Given the description of an element on the screen output the (x, y) to click on. 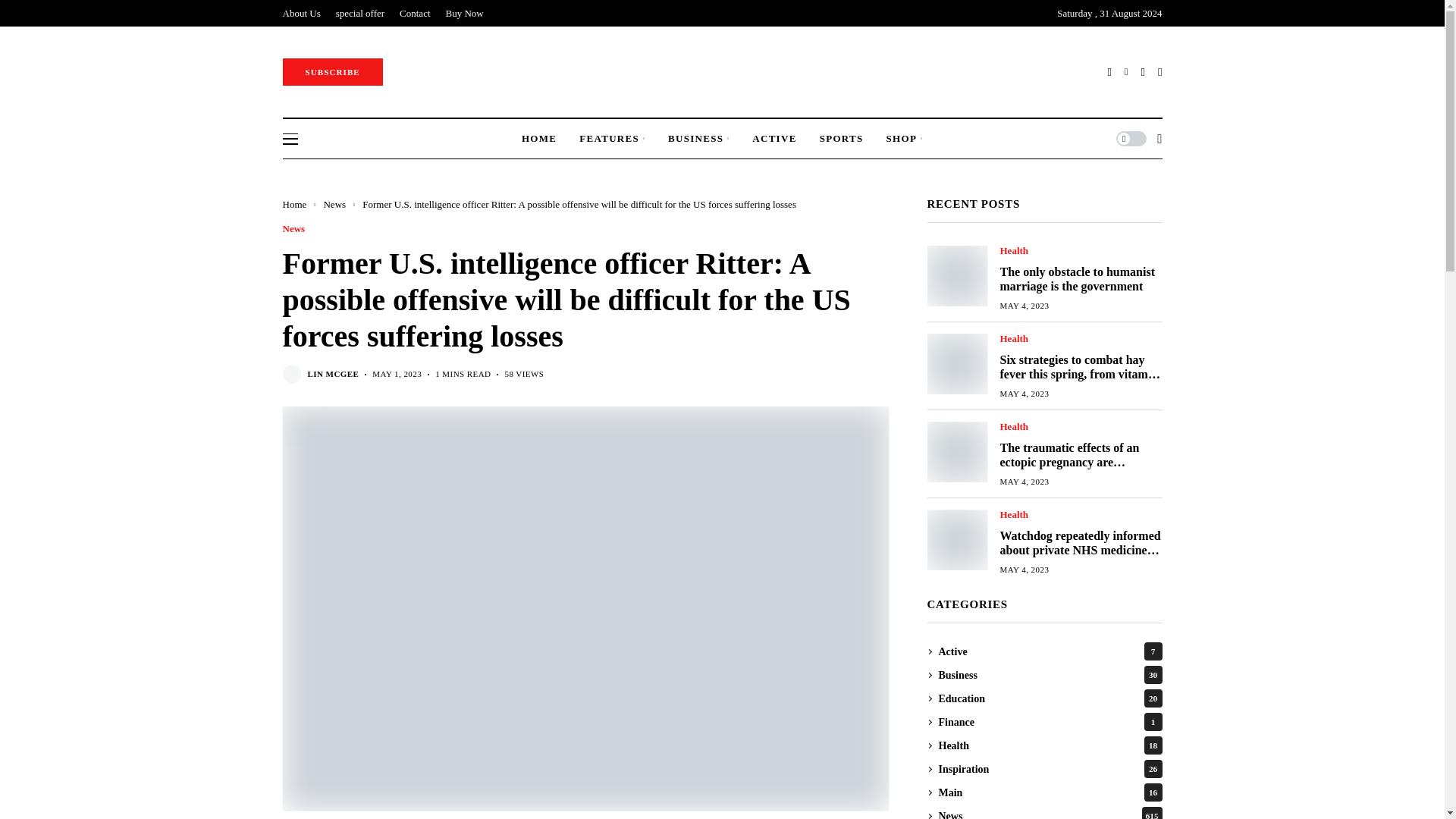
About Us (301, 13)
Buy Now (464, 13)
FEATURES (612, 138)
Posts by Lin McGee (333, 374)
Contact (413, 13)
SUBSCRIBE (331, 71)
special offer (360, 13)
